Given the description of an element on the screen output the (x, y) to click on. 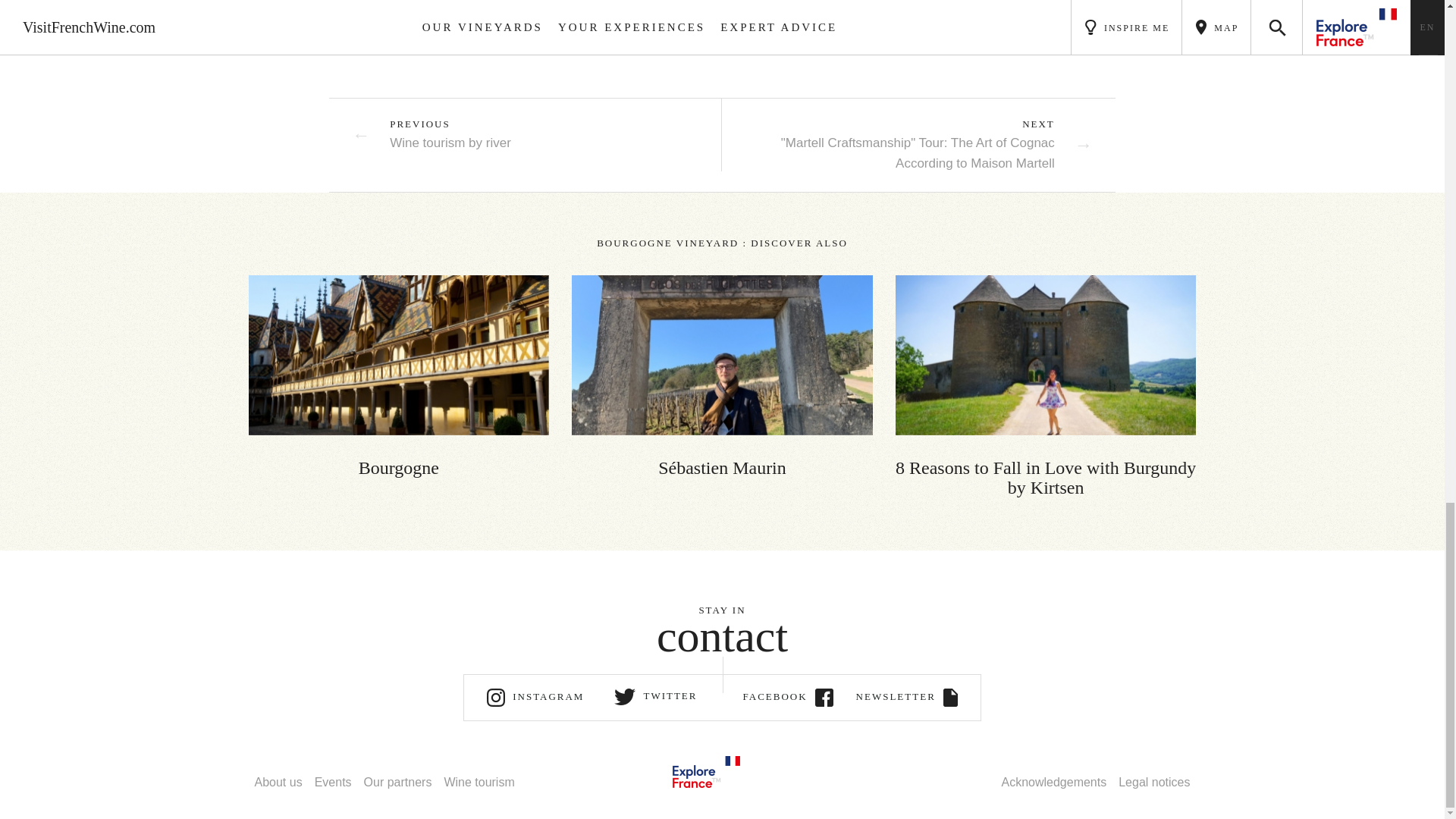
Hospices de Beaune in Bourgogne (399, 354)
NEWSLETTER (431, 135)
About us (906, 697)
INSTAGRAM (278, 781)
france.fr (535, 697)
FACEBOOK (705, 770)
Nos partenaires  (781, 697)
Events (398, 781)
